Given the description of an element on the screen output the (x, y) to click on. 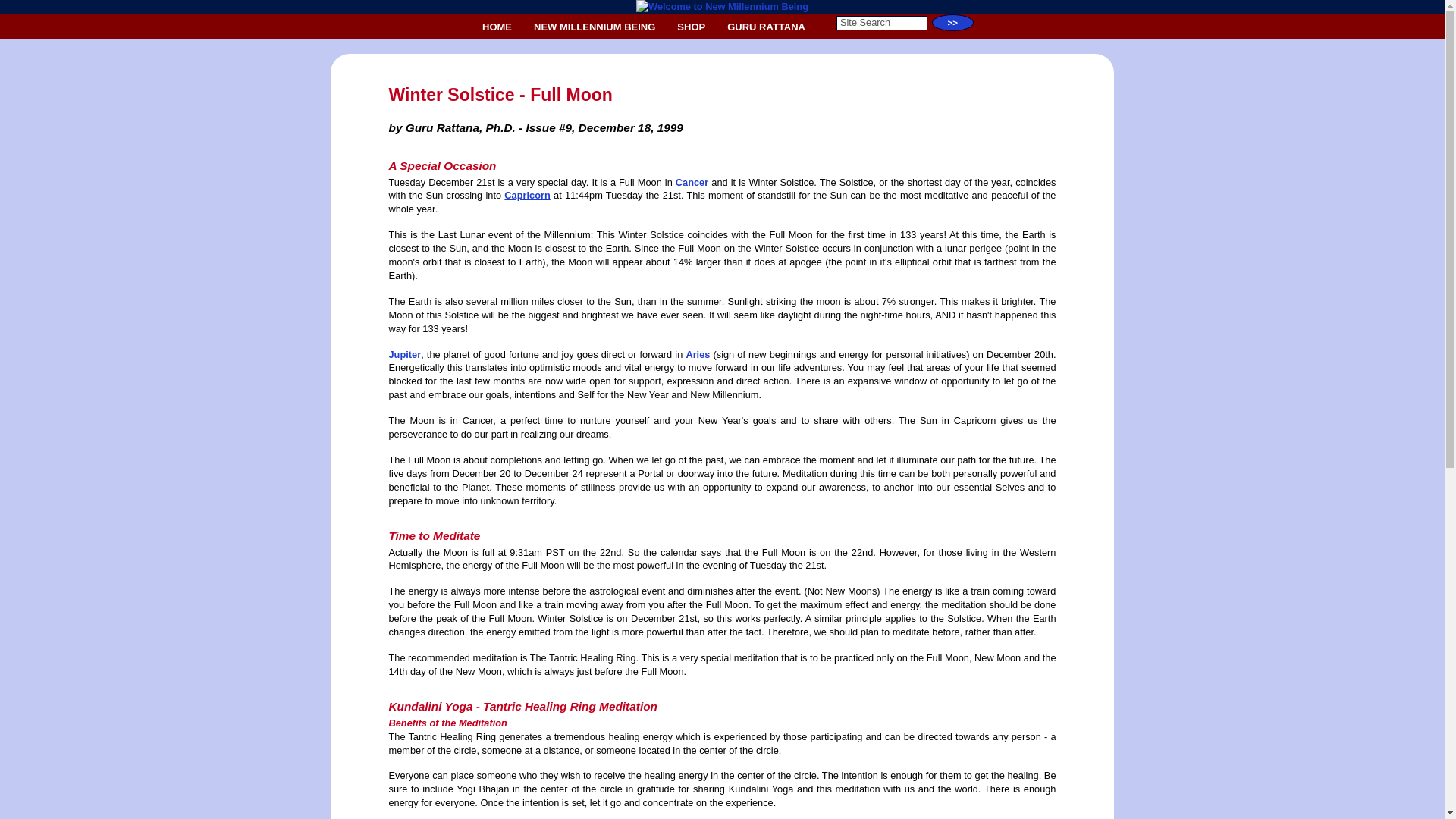
Aries (697, 354)
Site Search (881, 22)
SHOP (691, 26)
Cancer (691, 182)
Jupiter (404, 354)
GURU RATTANA (765, 26)
HOME (497, 26)
NEW MILLENNIUM BEING (593, 26)
Capricorn (526, 194)
